Given the description of an element on the screen output the (x, y) to click on. 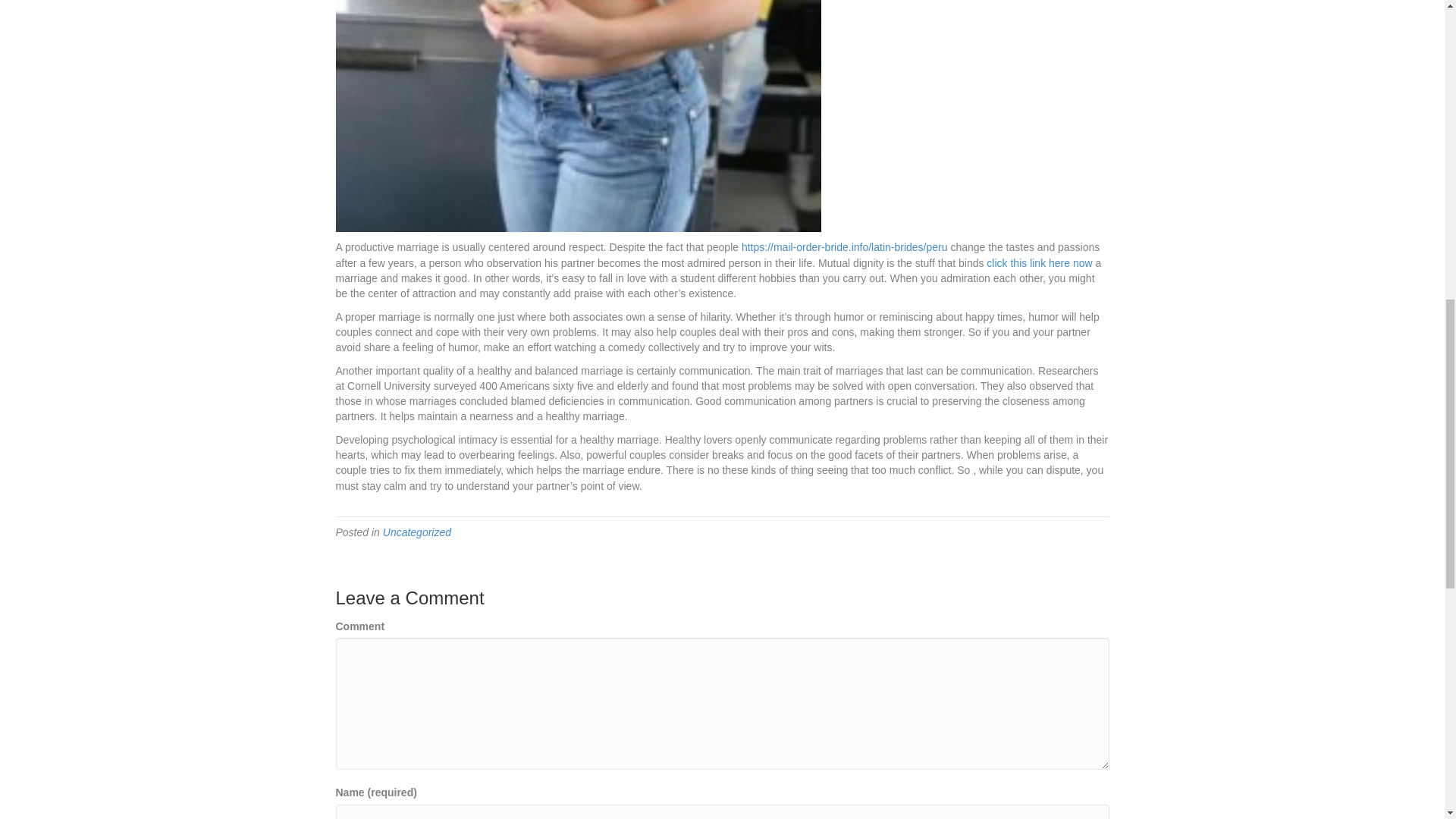
click this link here now (1039, 263)
Uncategorized (416, 532)
